Given the description of an element on the screen output the (x, y) to click on. 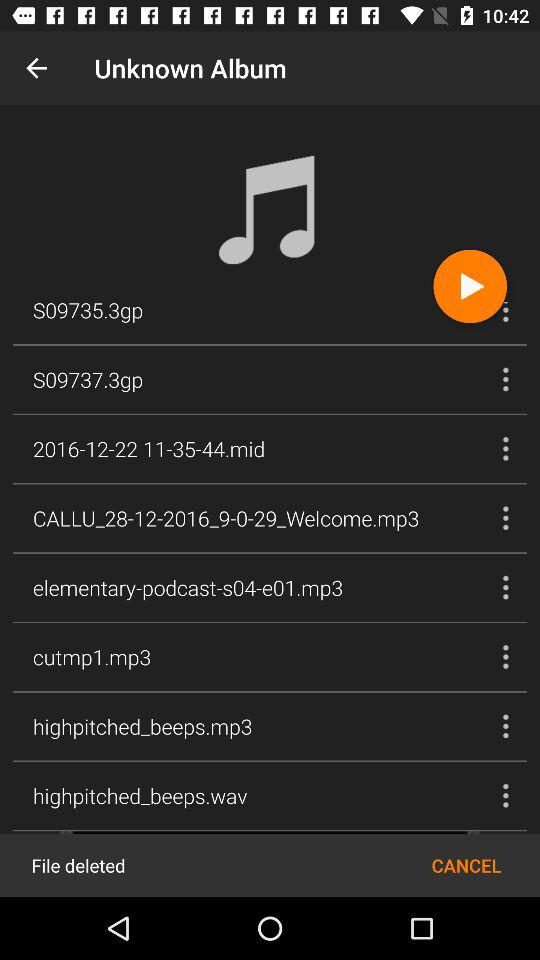
open the icon to the left of the unknown album app (36, 68)
